Given the description of an element on the screen output the (x, y) to click on. 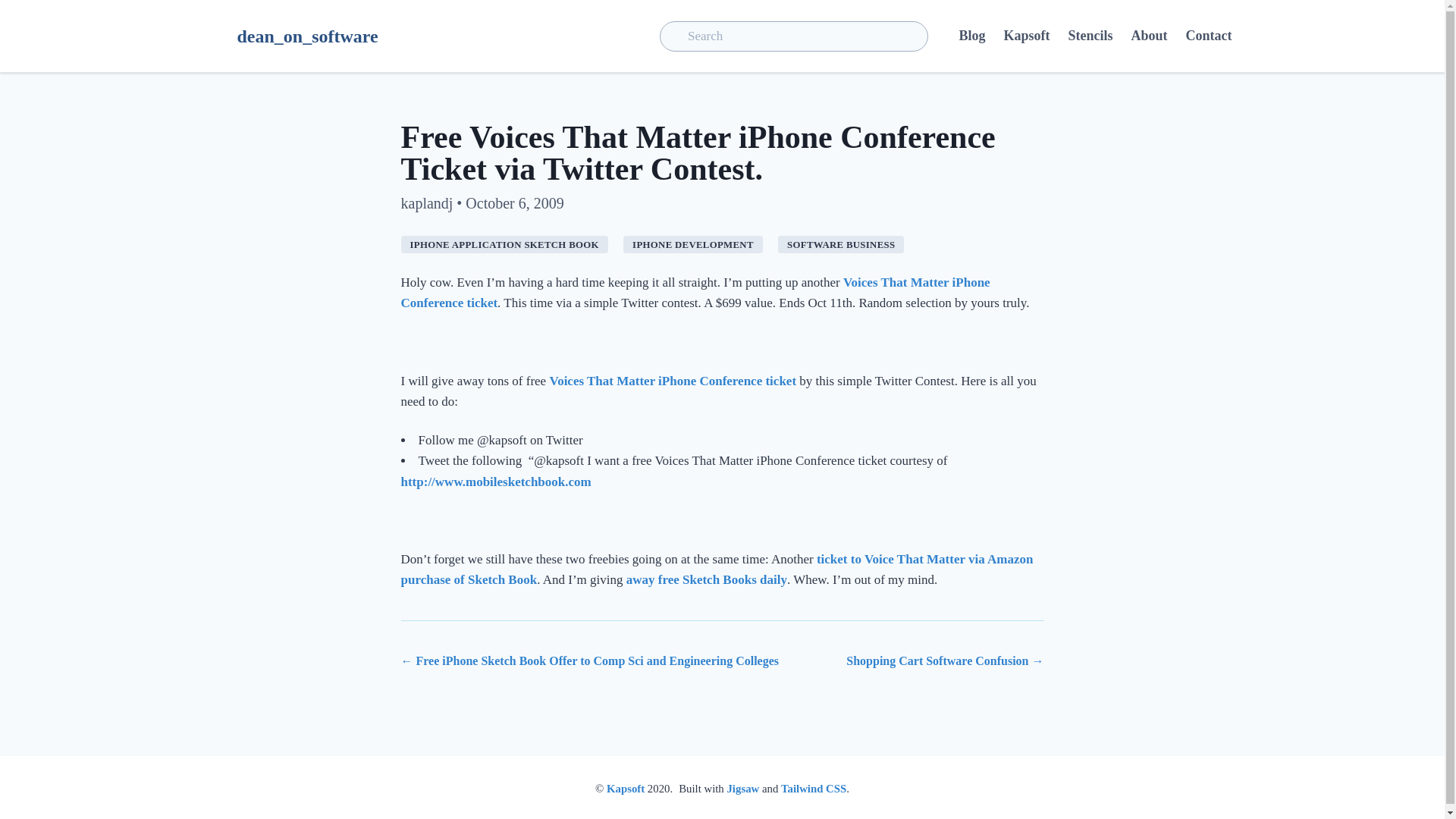
Kapsoft website (626, 788)
Voices That Matter iPhone Conference ticket (695, 292)
View posts in Software Business (840, 244)
Stencils (1089, 35)
View posts in iPhone Development (692, 244)
away free Sketch Books daily (706, 579)
Jigsaw by Tighten (742, 788)
Kapsoft (1026, 35)
IPHONE DEVELOPMENT (692, 244)
Voices That Matter iPhone Conference ticket (672, 380)
